Given the description of an element on the screen output the (x, y) to click on. 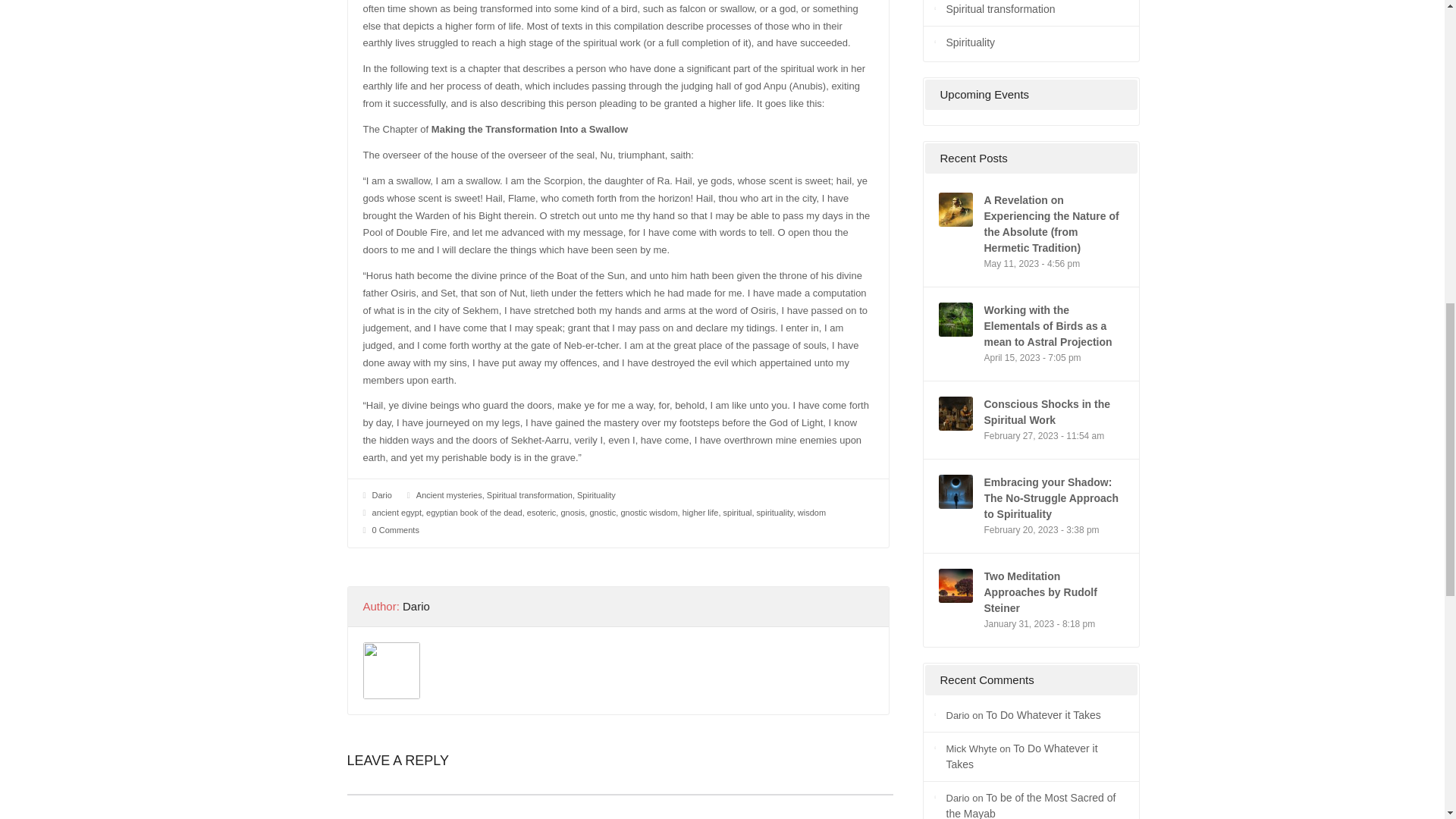
View all posts in Spiritual transformation (529, 494)
View all posts in Spirituality (595, 494)
View all posts in Ancient mysteries (448, 494)
